Given the description of an element on the screen output the (x, y) to click on. 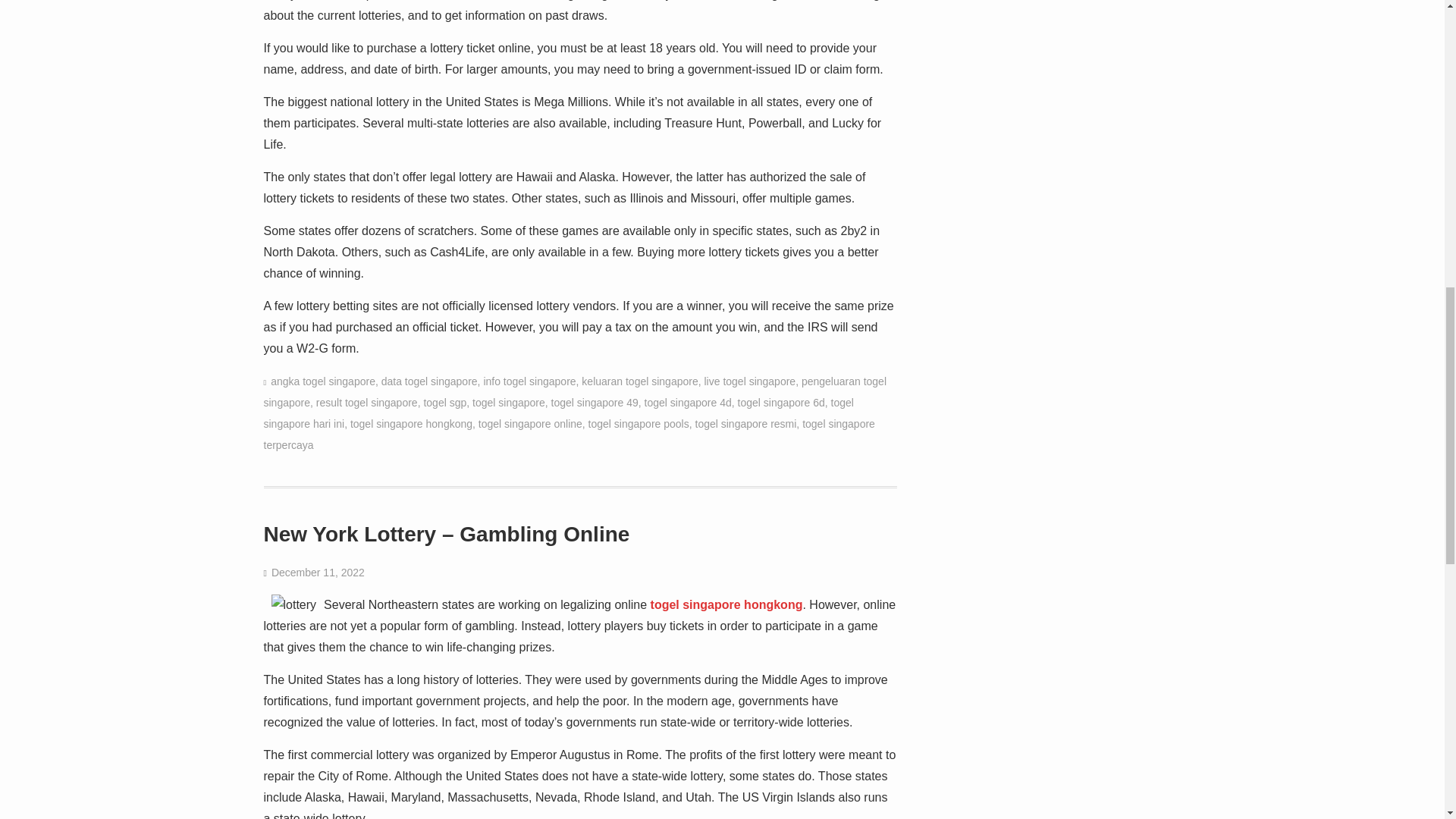
angka togel singapore (322, 381)
keluaran togel singapore (638, 381)
togel singapore resmi (745, 423)
result togel singapore (366, 402)
togel singapore hongkong (410, 423)
pengeluaran togel singapore (574, 391)
togel singapore pools (638, 423)
togel singapore online (530, 423)
live togel singapore (748, 381)
togel singapore terpercaya (569, 434)
togel singapore 4d (688, 402)
togel singapore 6d (781, 402)
togel singapore hari ini (558, 412)
December 11, 2022 (317, 572)
togel singapore 49 (595, 402)
